Given the description of an element on the screen output the (x, y) to click on. 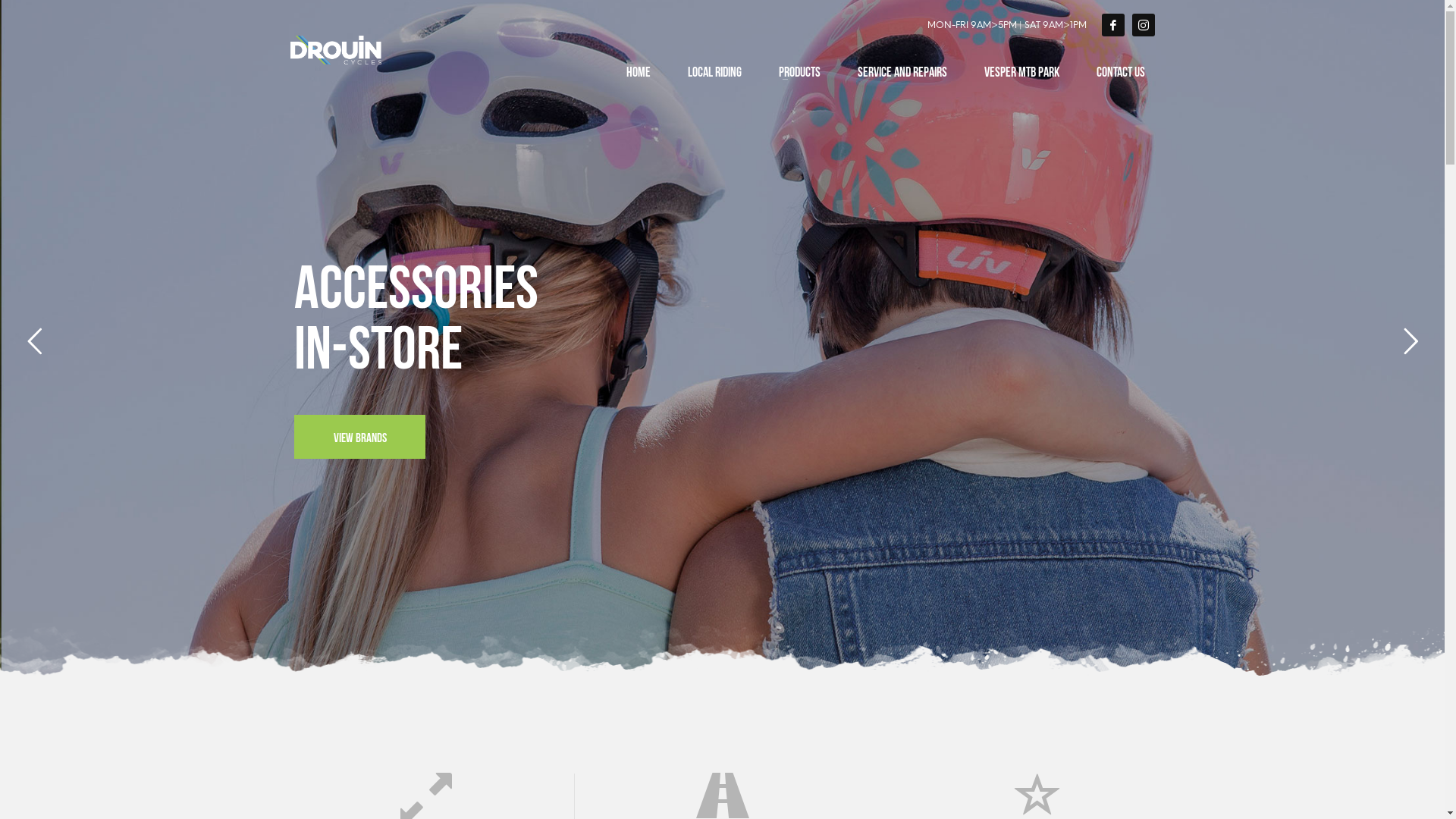
HOME Element type: text (638, 69)
Home of Cycling in West Gippsland Element type: hover (334, 49)
VESPER MTB PARK Element type: text (1021, 69)
CONTACT US Element type: text (1120, 69)
SERVICE AND REPAIRS Element type: text (902, 69)
PRODUCTS Element type: text (799, 69)
LOCAL RIDING Element type: text (714, 69)
